Given the description of an element on the screen output the (x, y) to click on. 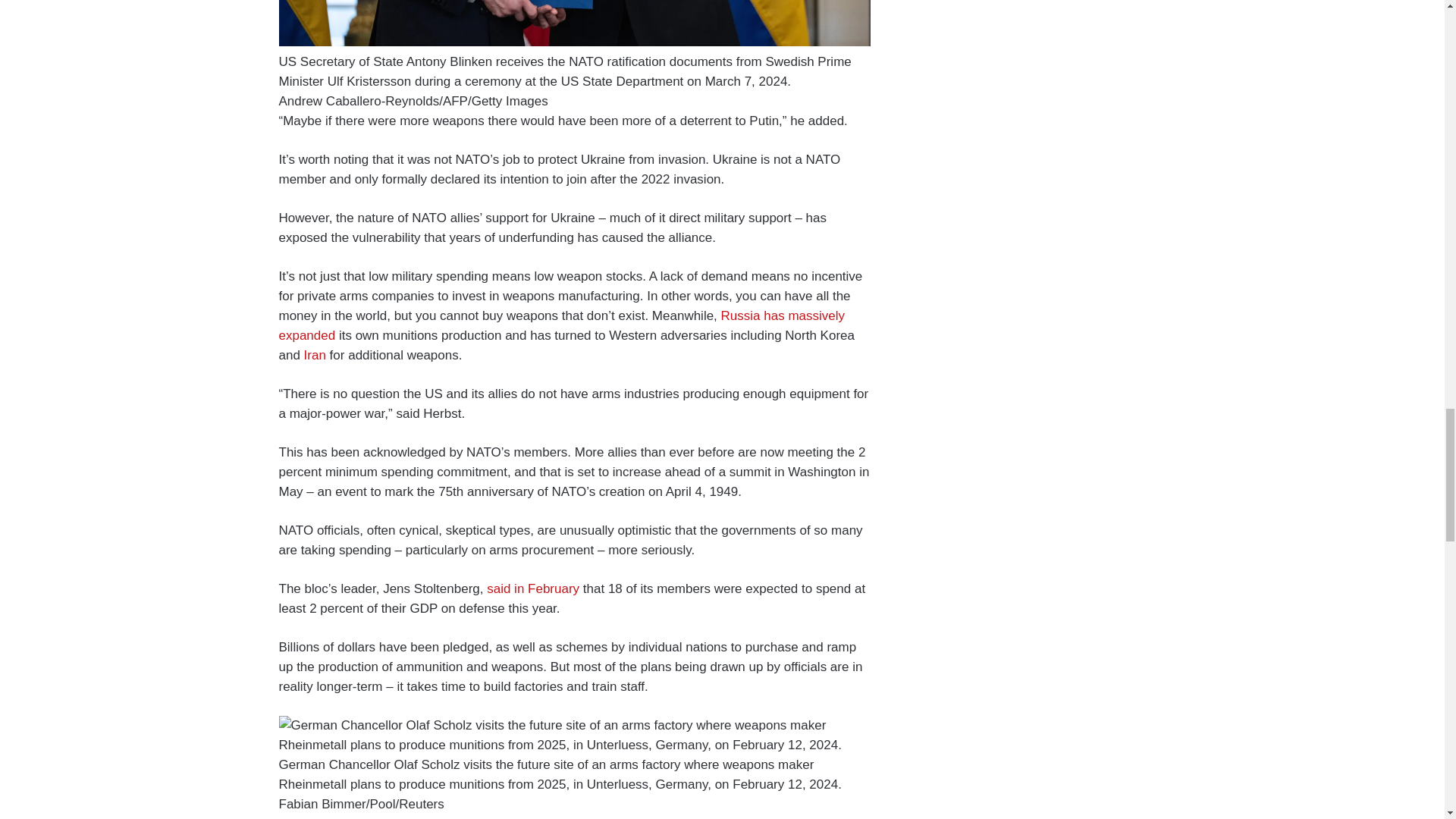
Russia has massively expanded (562, 325)
said in February (532, 588)
Iran (315, 355)
